Given the description of an element on the screen output the (x, y) to click on. 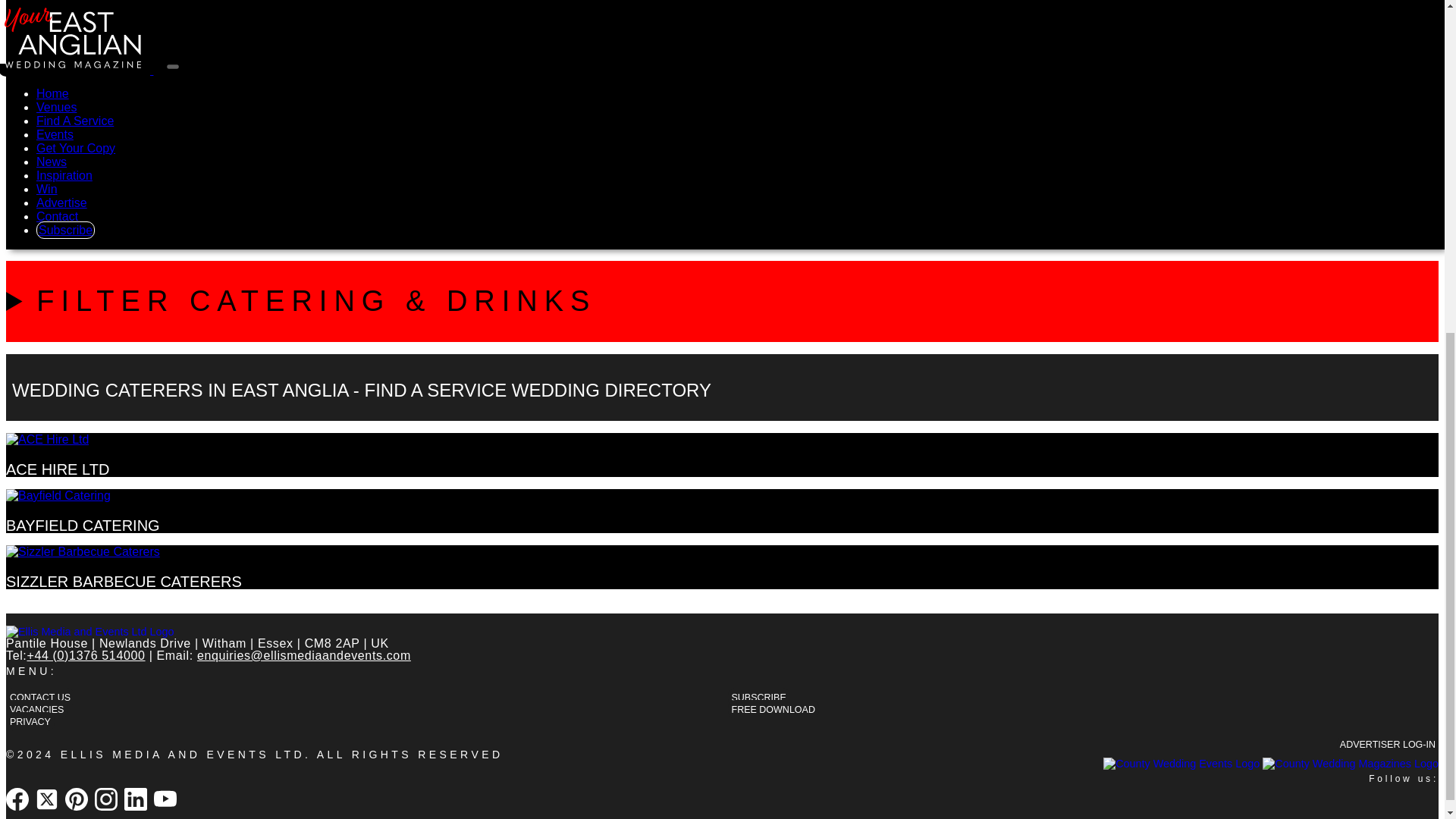
View more information about ACE Hire Ltd (46, 439)
FREE DOWNLOAD (773, 709)
PRIVACY (30, 721)
ELLIS MEDIA AND EVENTS LTD (182, 754)
BAYFIELD CATERING (82, 524)
See the Sizzler Barbecue Caterers profile (123, 581)
VACANCIES (35, 709)
See the Bayfield Catering profile (82, 524)
View more information about Sizzler Barbecue Caterers (82, 551)
SUBSCRIBE (759, 696)
